Given the description of an element on the screen output the (x, y) to click on. 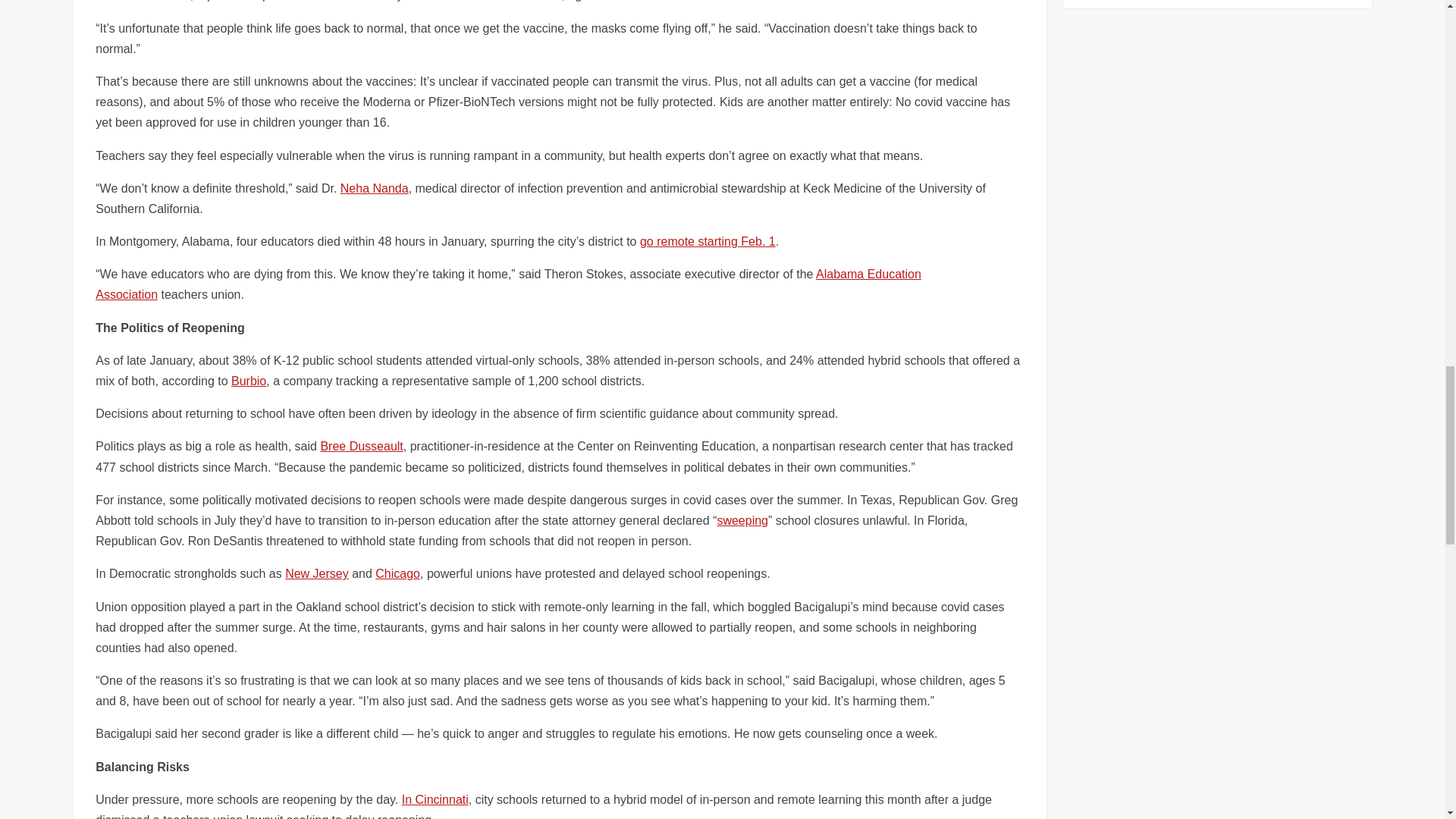
Neha Nanda (374, 187)
Alabama Education Association (508, 284)
go remote starting Feb. 1 (708, 241)
